Given the description of an element on the screen output the (x, y) to click on. 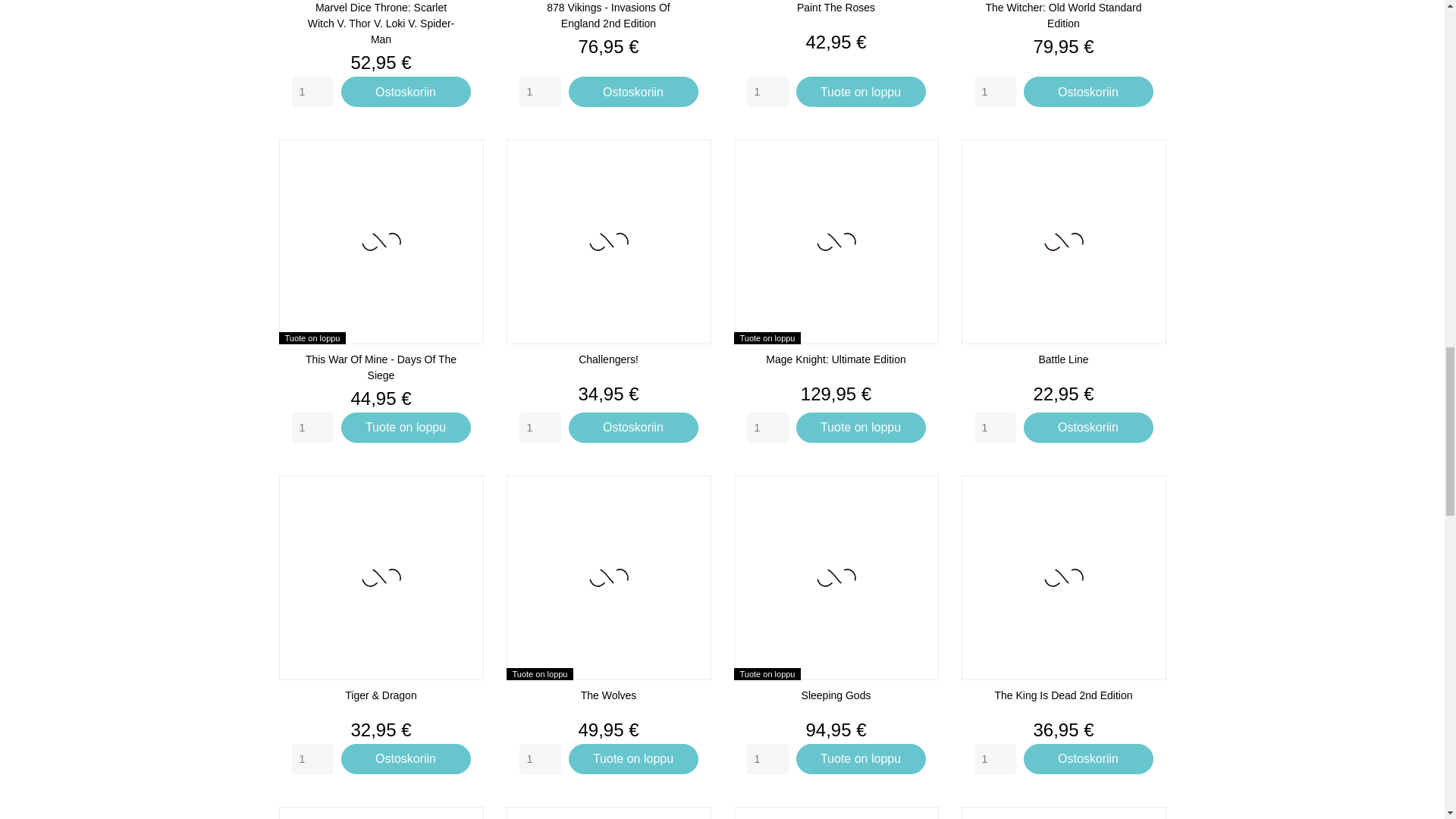
1 (994, 758)
1 (766, 91)
1 (312, 91)
1 (994, 91)
1 (539, 758)
1 (766, 427)
1 (766, 758)
1 (994, 427)
1 (539, 427)
1 (539, 91)
